Given the description of an element on the screen output the (x, y) to click on. 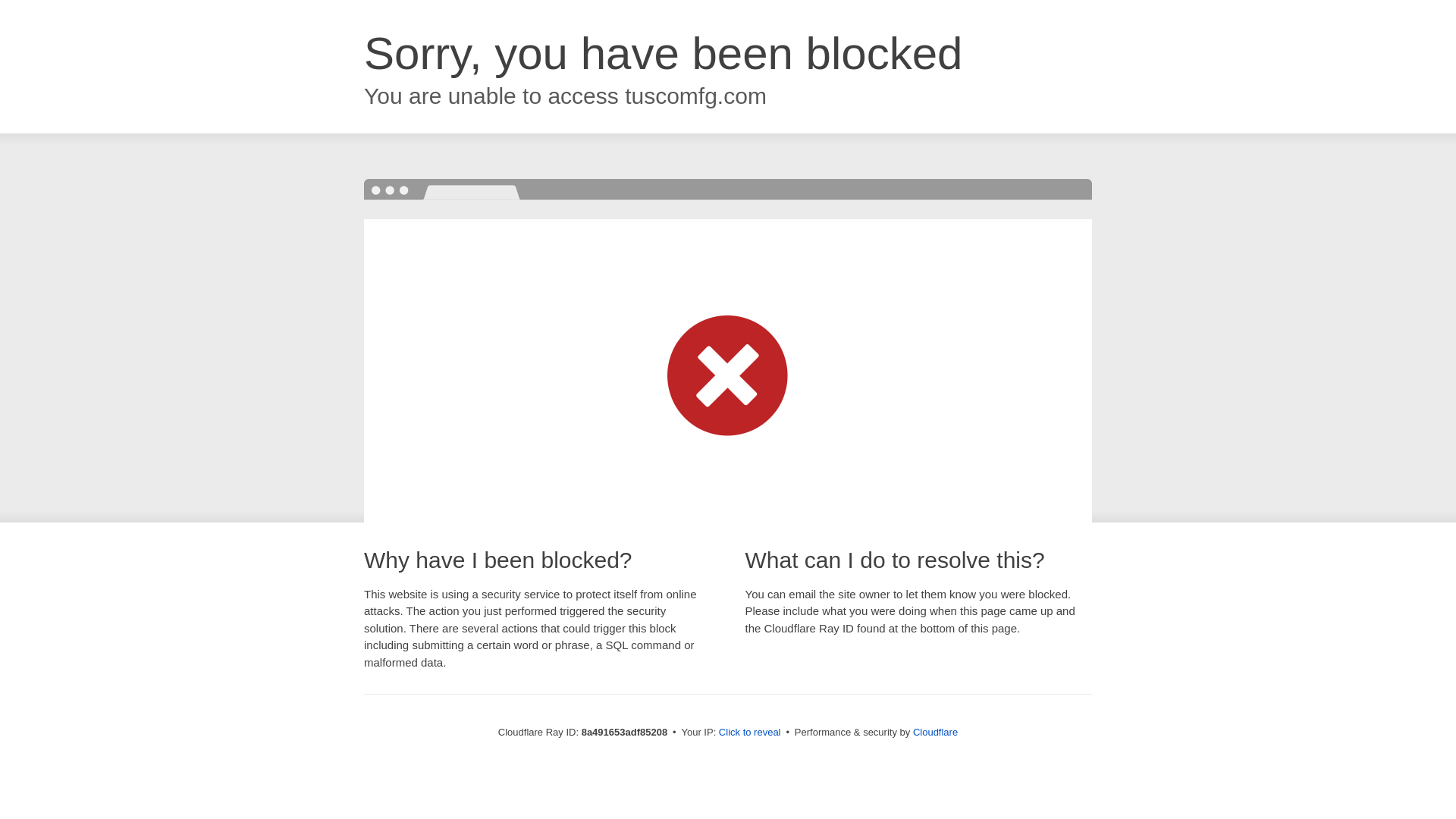
Cloudflare (935, 731)
Click to reveal (749, 732)
